Given the description of an element on the screen output the (x, y) to click on. 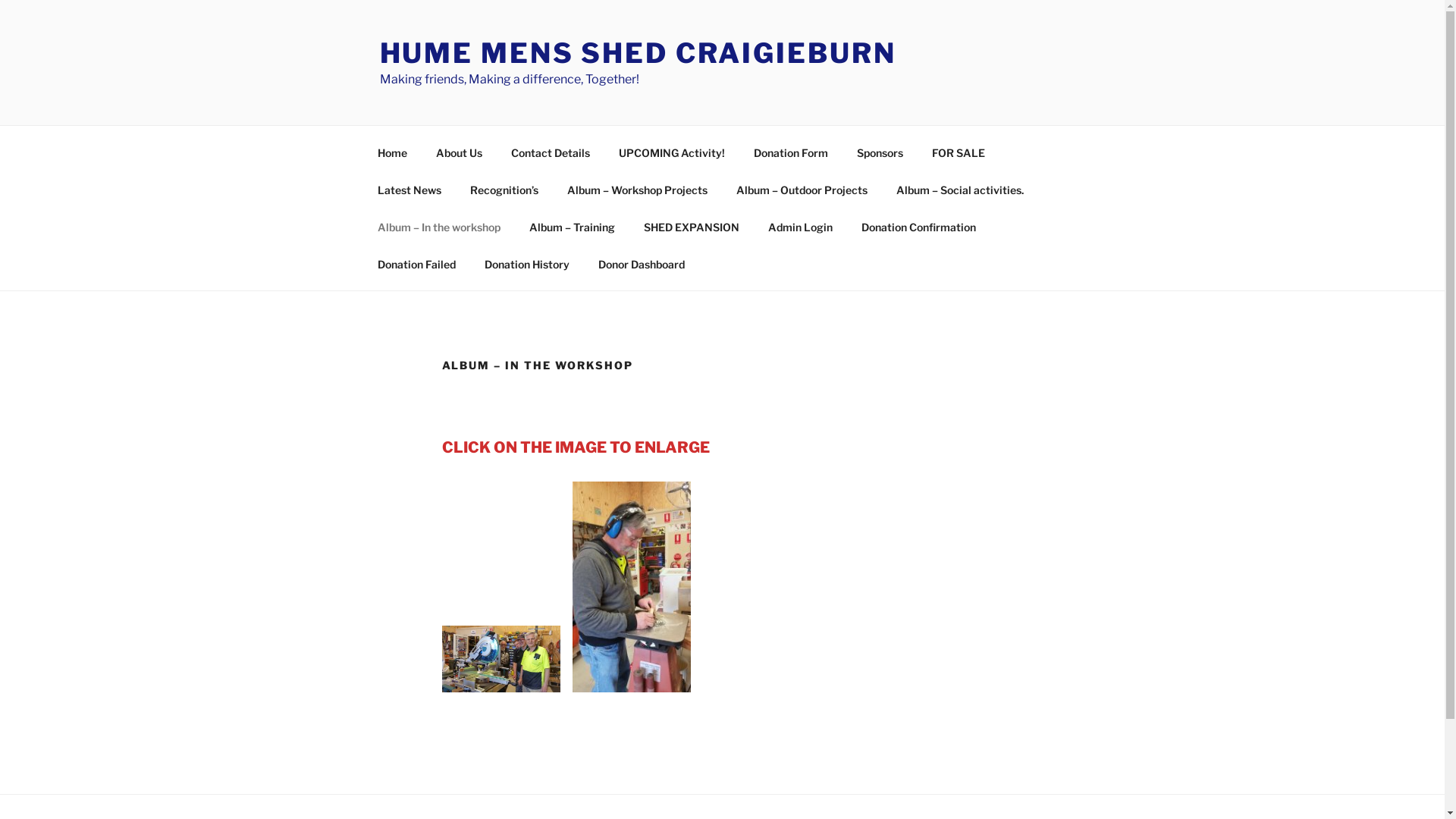
Donation Confirmation Element type: text (917, 225)
FOR SALE Element type: text (958, 151)
Donation Form Element type: text (790, 151)
Skip to content Element type: text (0, 0)
Sponsors Element type: text (879, 151)
UPCOMING Activity! Element type: text (671, 151)
Donation History Element type: text (527, 263)
Latest News Element type: text (409, 189)
Donor Dashboard Element type: text (641, 263)
Admin Login Element type: text (800, 225)
About Us Element type: text (459, 151)
Contact Details Element type: text (549, 151)
Donation Failed Element type: text (416, 263)
HUME MENS SHED CRAIGIEBURN Element type: text (637, 52)
Home Element type: text (392, 151)
SHED EXPANSION Element type: text (691, 225)
